Given the description of an element on the screen output the (x, y) to click on. 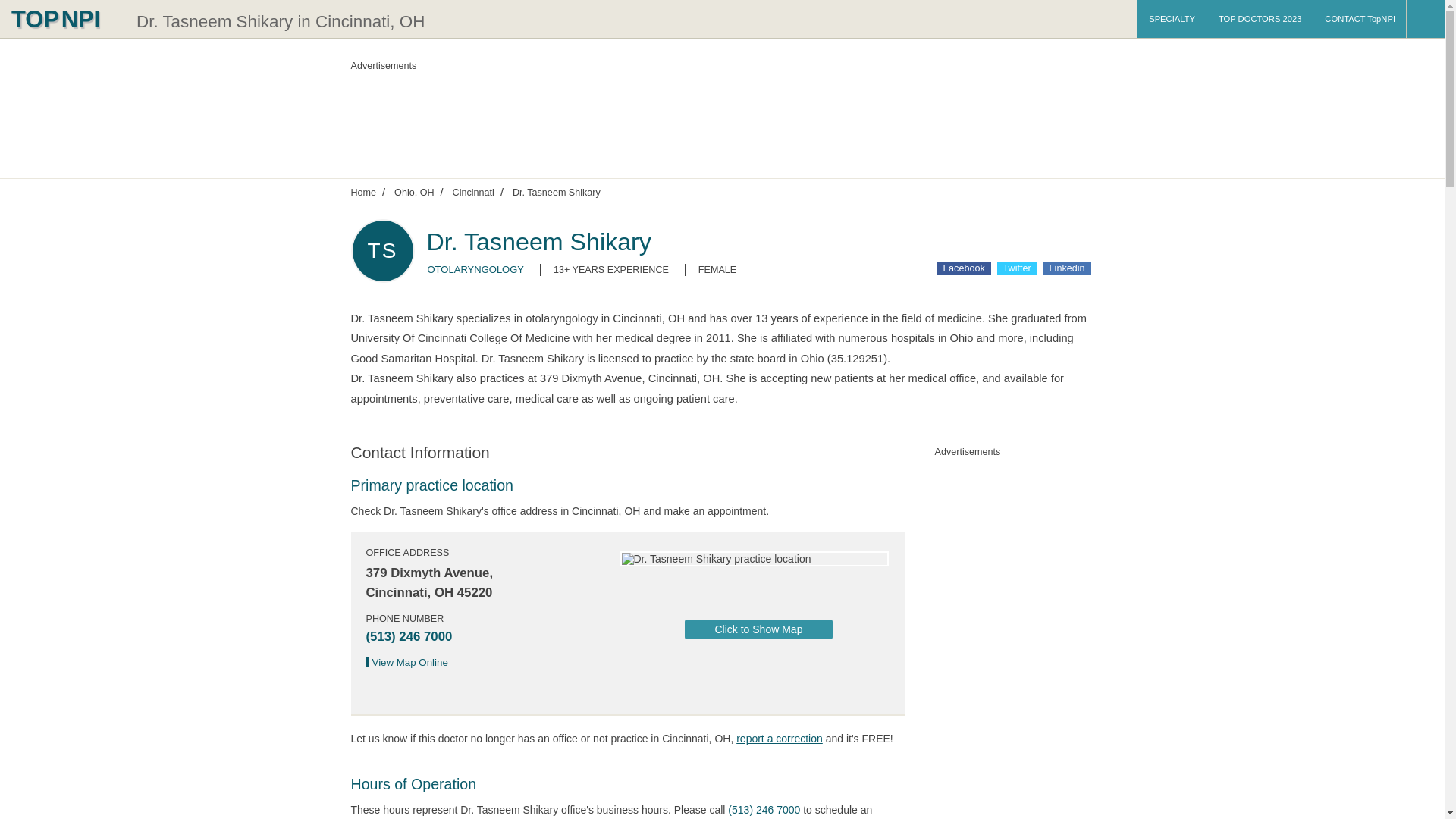
SPECIALTY (1172, 18)
report a correction (779, 738)
Dr. Tasneem Shikary in Cincinnati, OH (280, 21)
Top US doctors (362, 191)
Dr. Tasneem Shikary in Cincinnati, OH (280, 21)
CONTACT TopNPI (1359, 18)
Twitter (1016, 268)
Share Dr. Tasneem Shikary on Linkedin (1066, 268)
Linkedin (1066, 268)
NPI lookup (64, 18)
Otolaryngology (476, 269)
OTOLARYNGOLOGY (476, 269)
Click to Show Map (758, 629)
Home (362, 191)
Ohio, OH (413, 191)
